Given the description of an element on the screen output the (x, y) to click on. 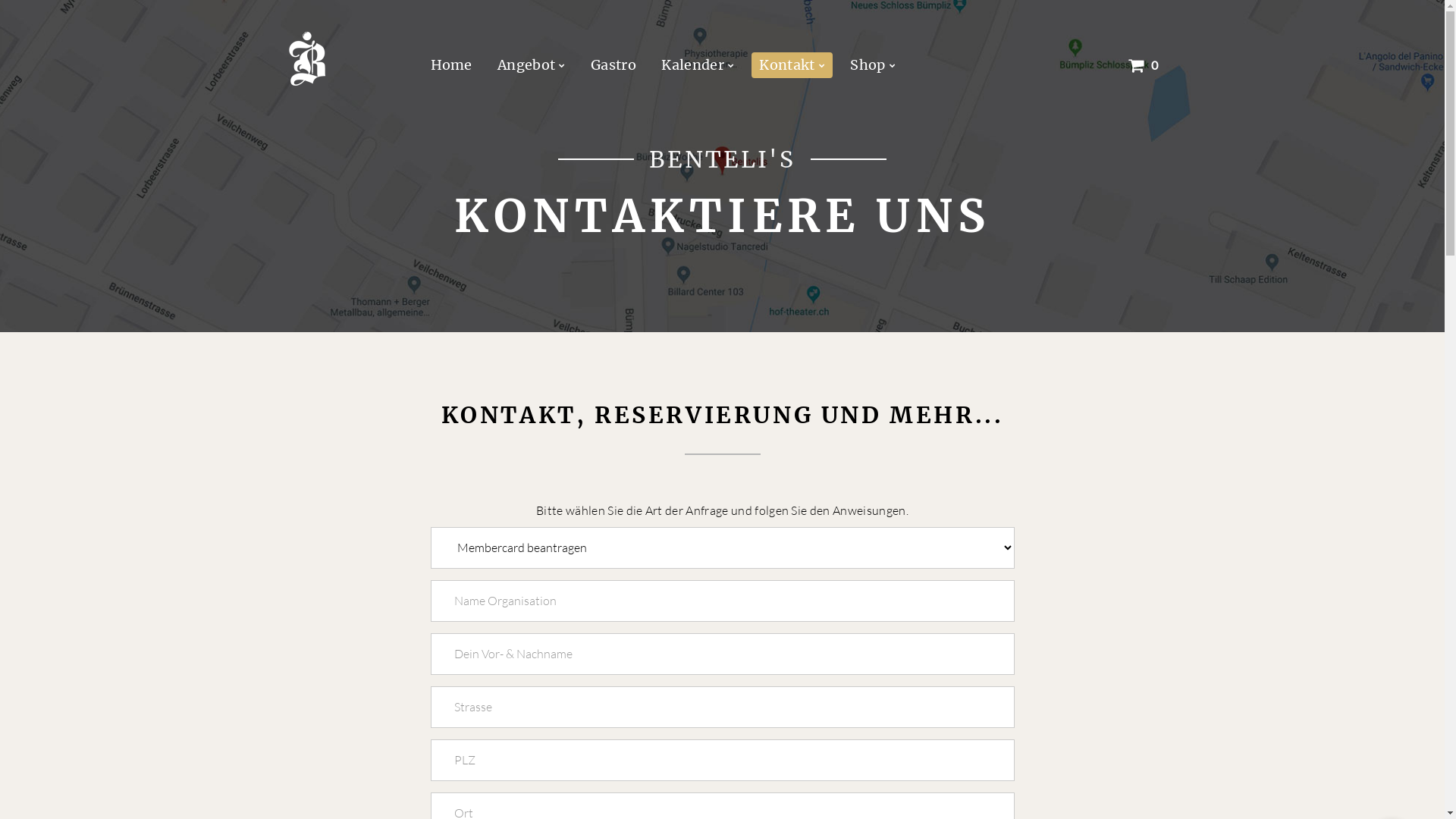
Gastro Element type: text (613, 65)
Kontakt Element type: text (791, 65)
Home Element type: text (451, 65)
Angebot Element type: text (531, 65)
Shop Element type: text (872, 65)
Kalender Element type: text (697, 65)
0 Element type: text (1143, 64)
